Given the description of an element on the screen output the (x, y) to click on. 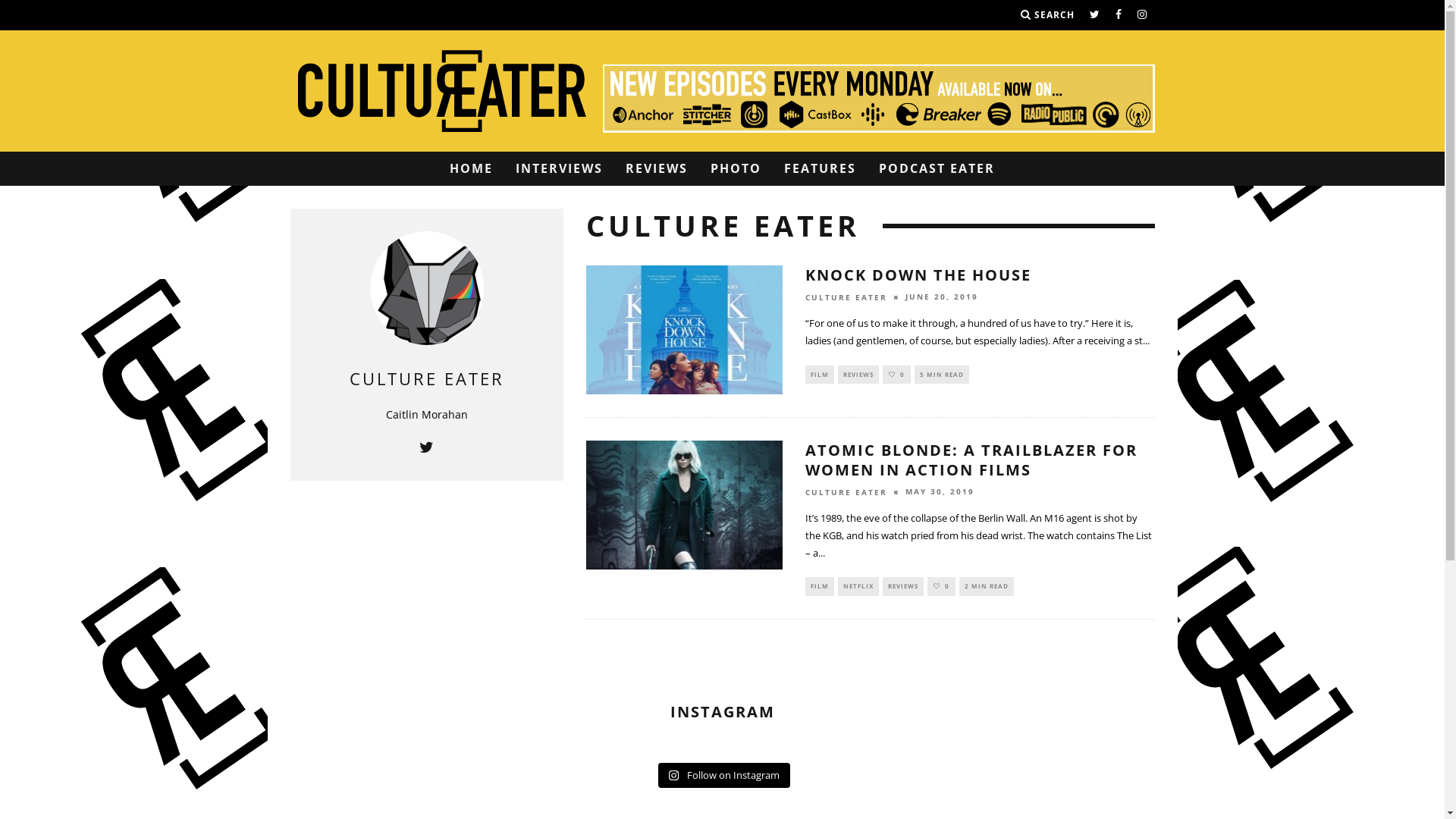
CULTURE EATER Element type: text (846, 491)
2 MIN READ Element type: text (986, 586)
KNOCK DOWN THE HOUSE Element type: text (918, 274)
5 MIN READ Element type: text (941, 374)
FEATURES Element type: text (820, 168)
FILM Element type: text (819, 586)
Log In Element type: text (721, 408)
NETFLIX Element type: text (857, 586)
FILM Element type: text (819, 374)
PODCAST EATER Element type: text (936, 168)
REVIEWS Element type: text (902, 586)
REVIEWS Element type: text (656, 168)
CULTURE EATER Element type: text (425, 378)
SEARCH Element type: text (1047, 15)
Follow on Instagram Element type: text (723, 775)
ATOMIC BLONDE: A TRAILBLAZER FOR WOMEN IN ACTION FILMS Element type: text (971, 459)
PHOTO Element type: text (735, 168)
INTERVIEWS Element type: text (558, 168)
CULTURE EATER Element type: text (846, 296)
REVIEWS Element type: text (857, 374)
HOME Element type: text (471, 168)
